Given the description of an element on the screen output the (x, y) to click on. 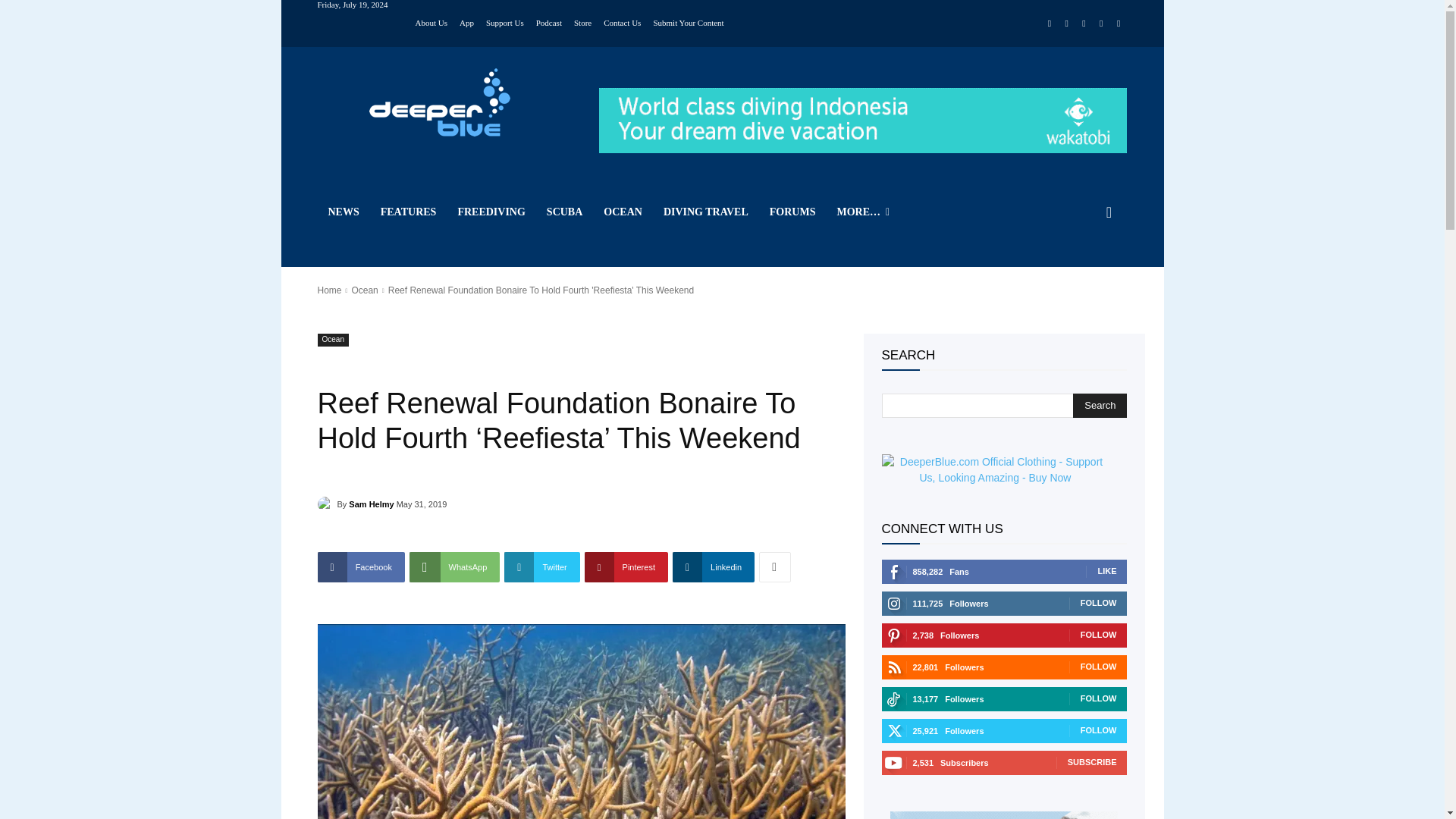
Contact Us (622, 22)
RSS (1084, 23)
Twitter (1101, 23)
Facebook (1049, 23)
Instagram (1066, 23)
Podcast (548, 22)
About Us (430, 22)
Store (582, 22)
Support Us (505, 22)
App (467, 22)
